Given the description of an element on the screen output the (x, y) to click on. 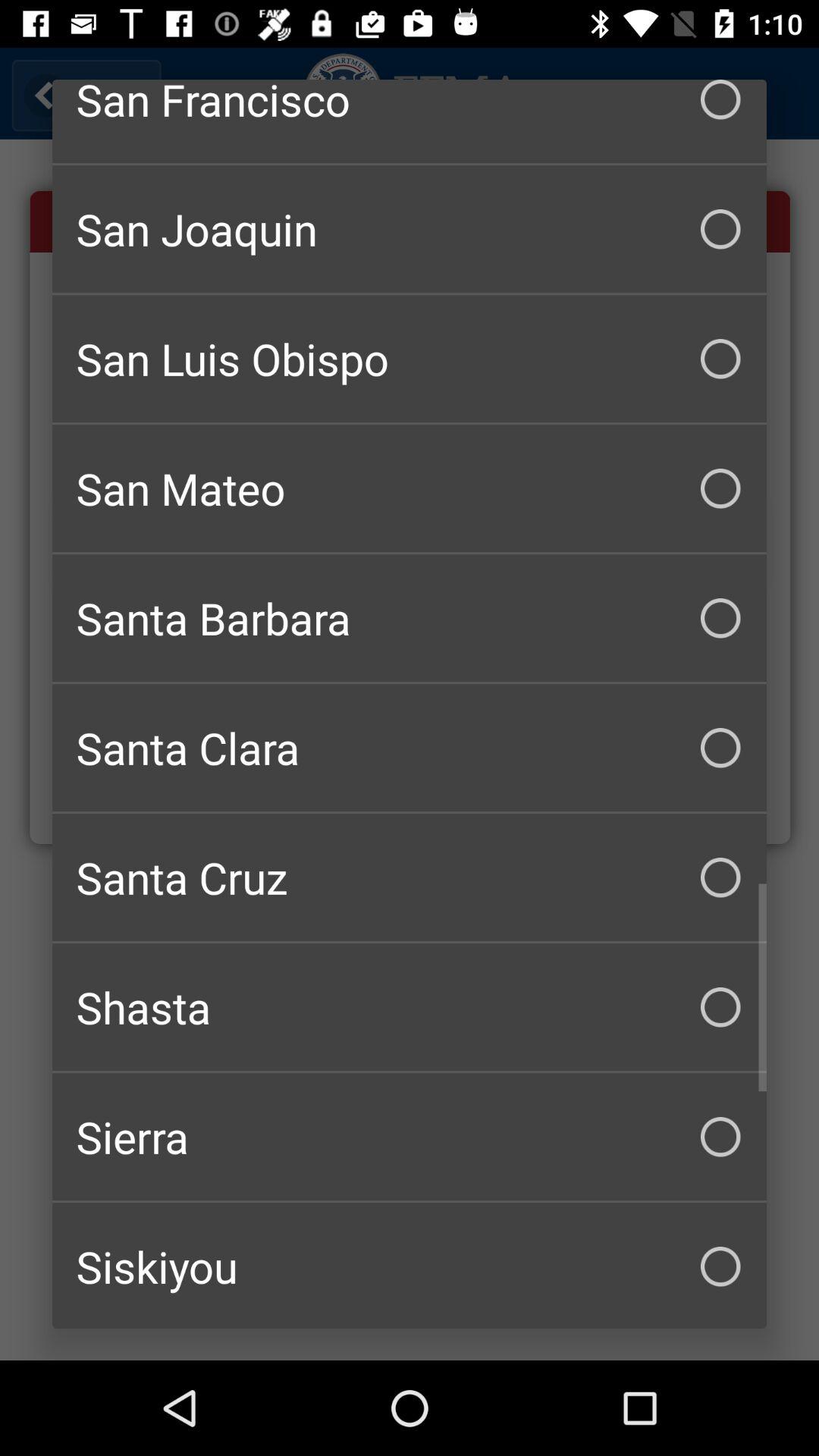
open the item above sierra (409, 1006)
